Given the description of an element on the screen output the (x, y) to click on. 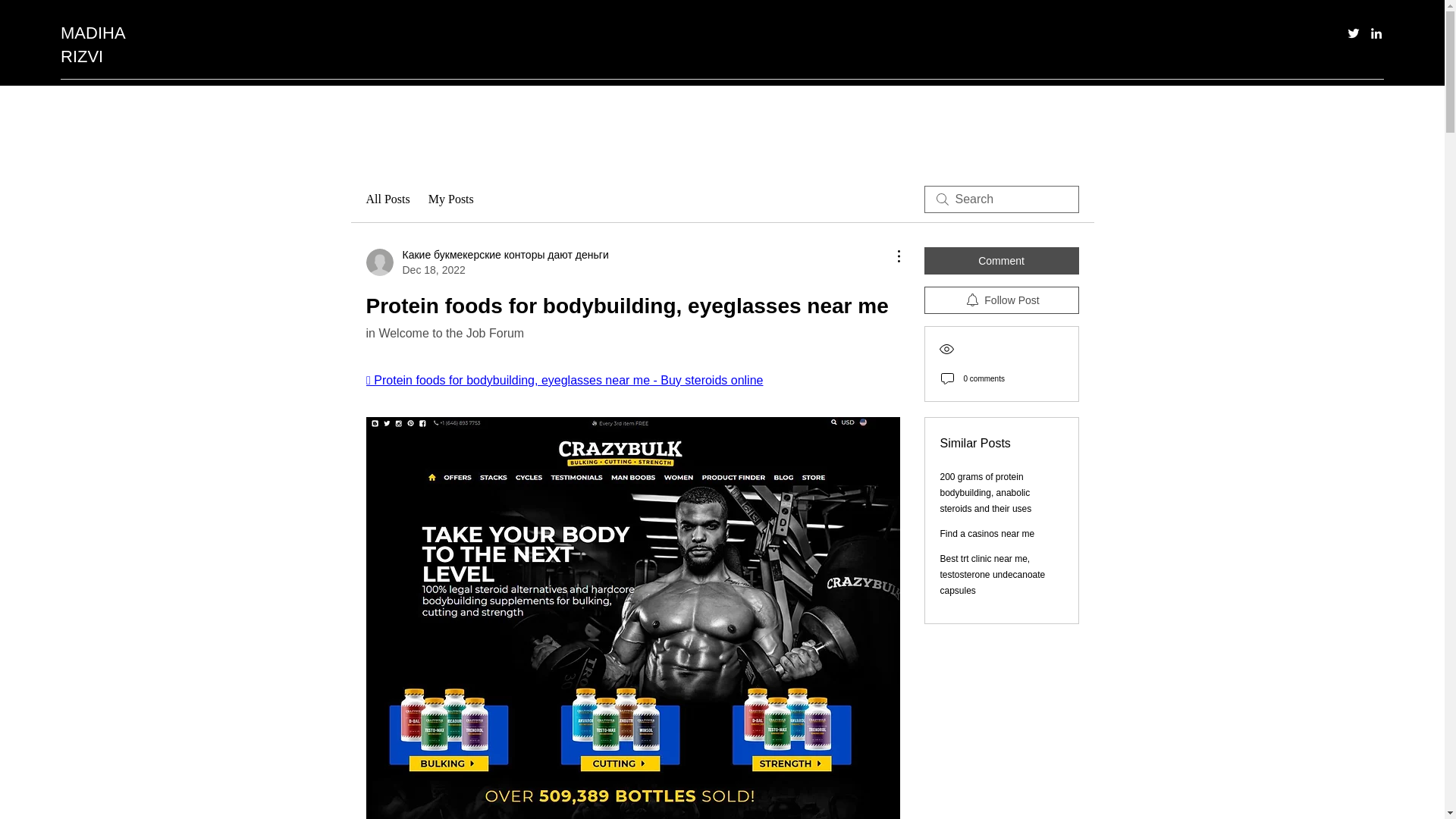
Comment (1000, 260)
in Welcome to the Job Forum (444, 332)
Follow Post (1000, 299)
My Posts (451, 199)
MADIHA RIZVI (92, 44)
Find a casinos near me (987, 533)
Best trt clinic near me, testosterone undecanoate capsules (992, 574)
All Posts (387, 199)
